Given the description of an element on the screen output the (x, y) to click on. 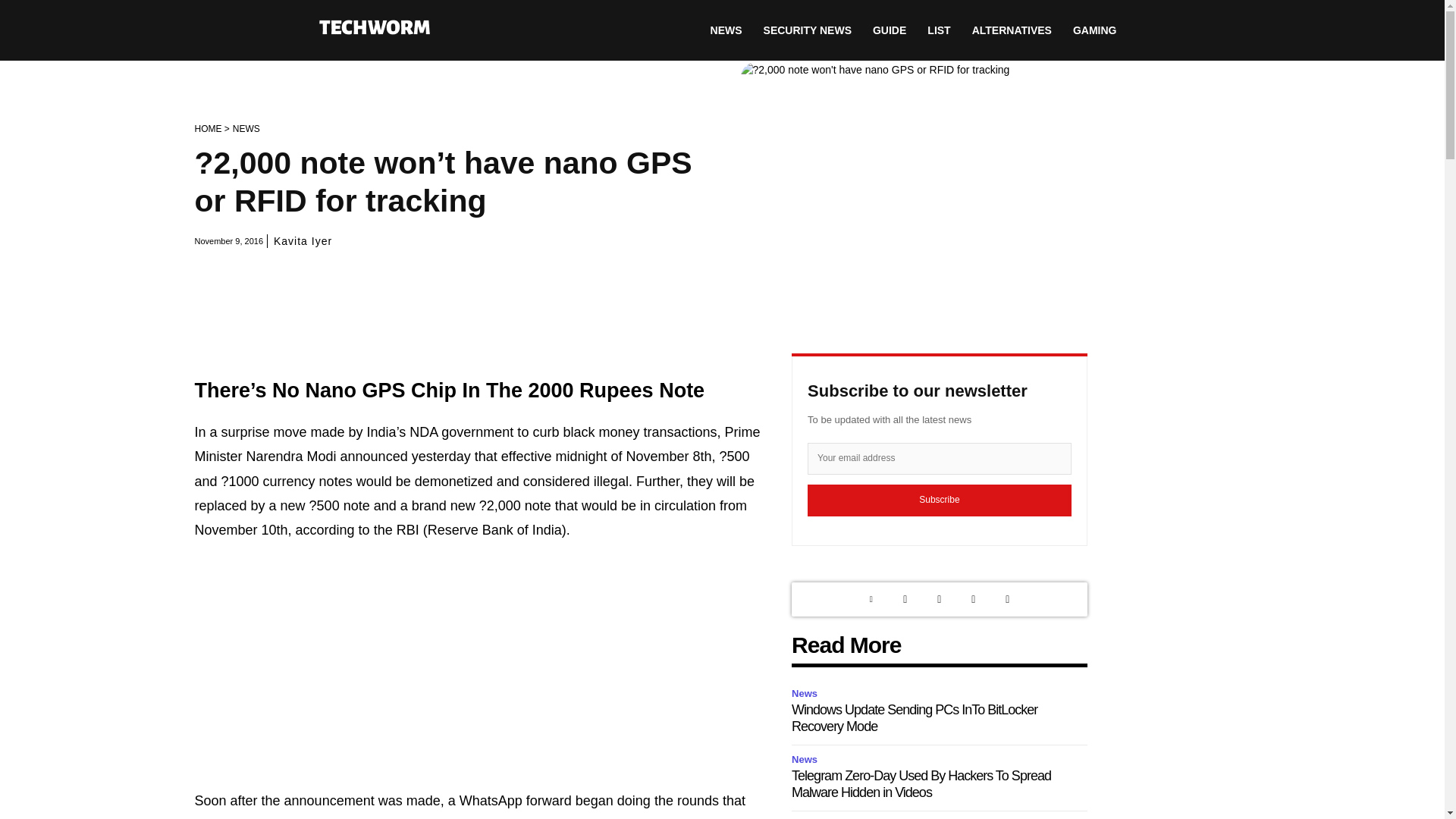
GAMING (1094, 30)
NEWS (246, 128)
View all posts in News (246, 128)
GUIDE (889, 30)
LIST (938, 30)
Instagram (939, 599)
?2,000 note won't have nano GPS or RFID for tracking (994, 184)
News (807, 693)
Windows Update Sending PCs InTo BitLocker Recovery Mode (914, 717)
Kavita Iyer (302, 241)
Facebook (973, 599)
Subscribe (939, 500)
Twitter (904, 599)
Youtube (1007, 599)
